Given the description of an element on the screen output the (x, y) to click on. 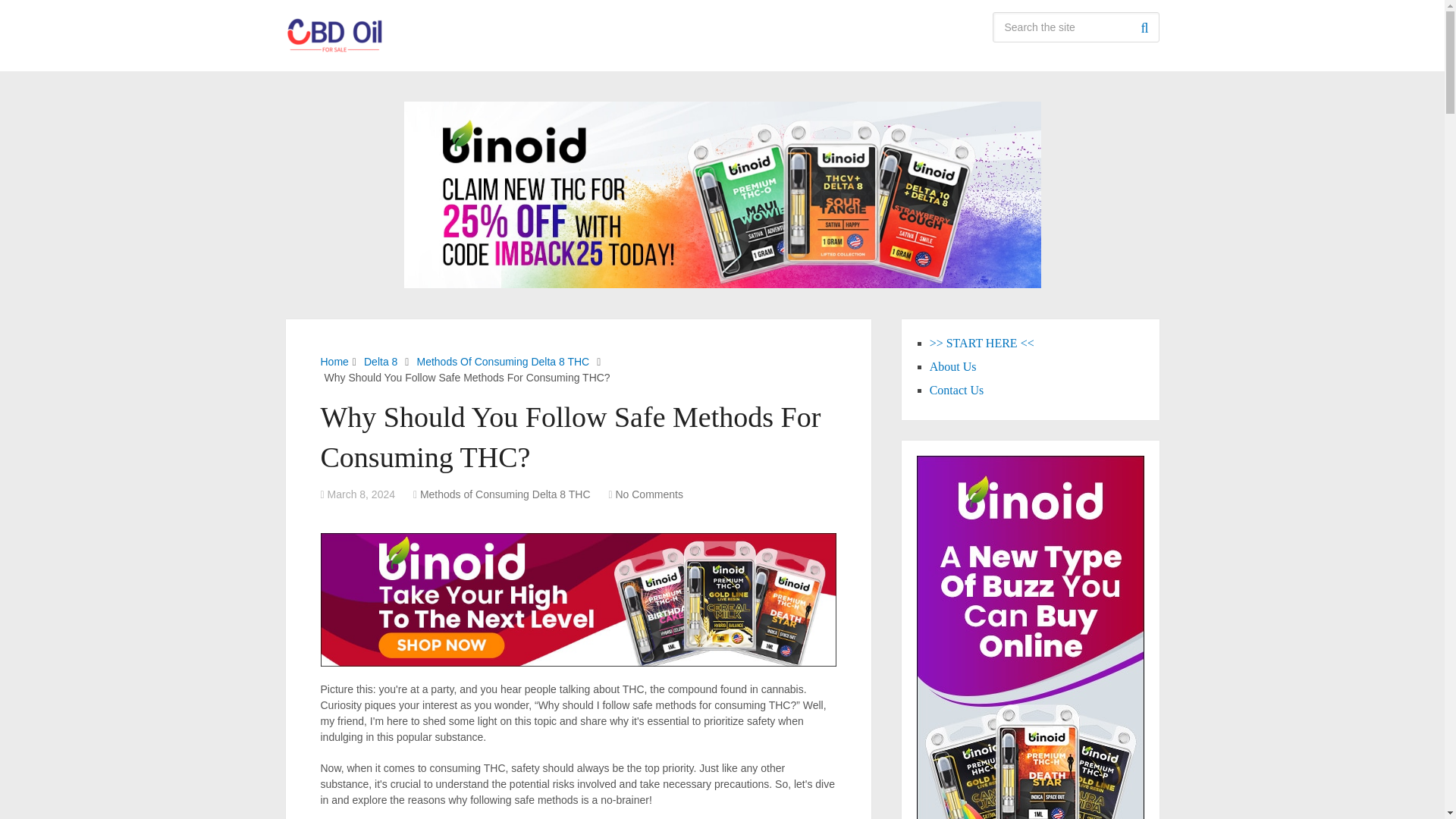
View all posts in Methods of Consuming Delta 8 THC (505, 494)
Search (1143, 27)
No Comments (648, 494)
Methods of Consuming Delta 8 THC (505, 494)
Home (333, 361)
Methods Of Consuming Delta 8 THC (502, 361)
Delta 8 (380, 361)
